Given the description of an element on the screen output the (x, y) to click on. 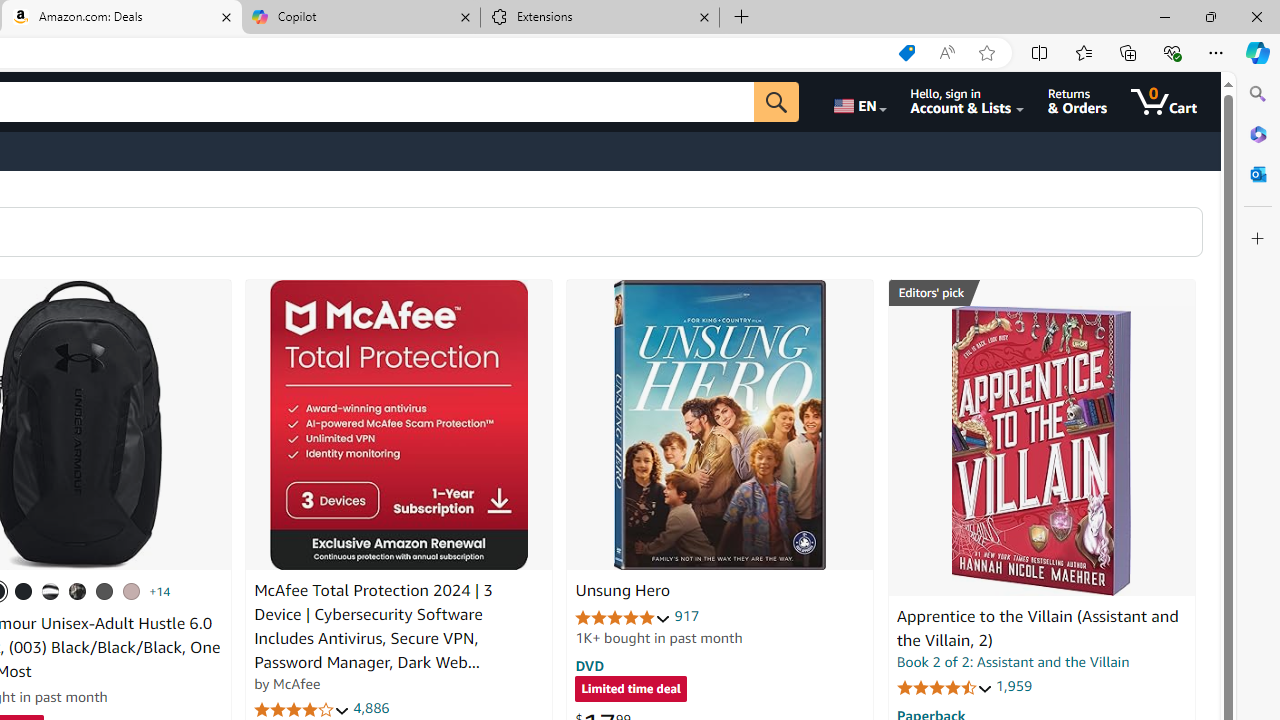
4.1 out of 5 stars (301, 709)
(004) Black / Black / Metallic Gold (78, 591)
Editors' pick Best Science Fiction & Fantasy (1041, 293)
(002) Black / Black / White (51, 591)
Limited time deal (630, 690)
